Given the description of an element on the screen output the (x, y) to click on. 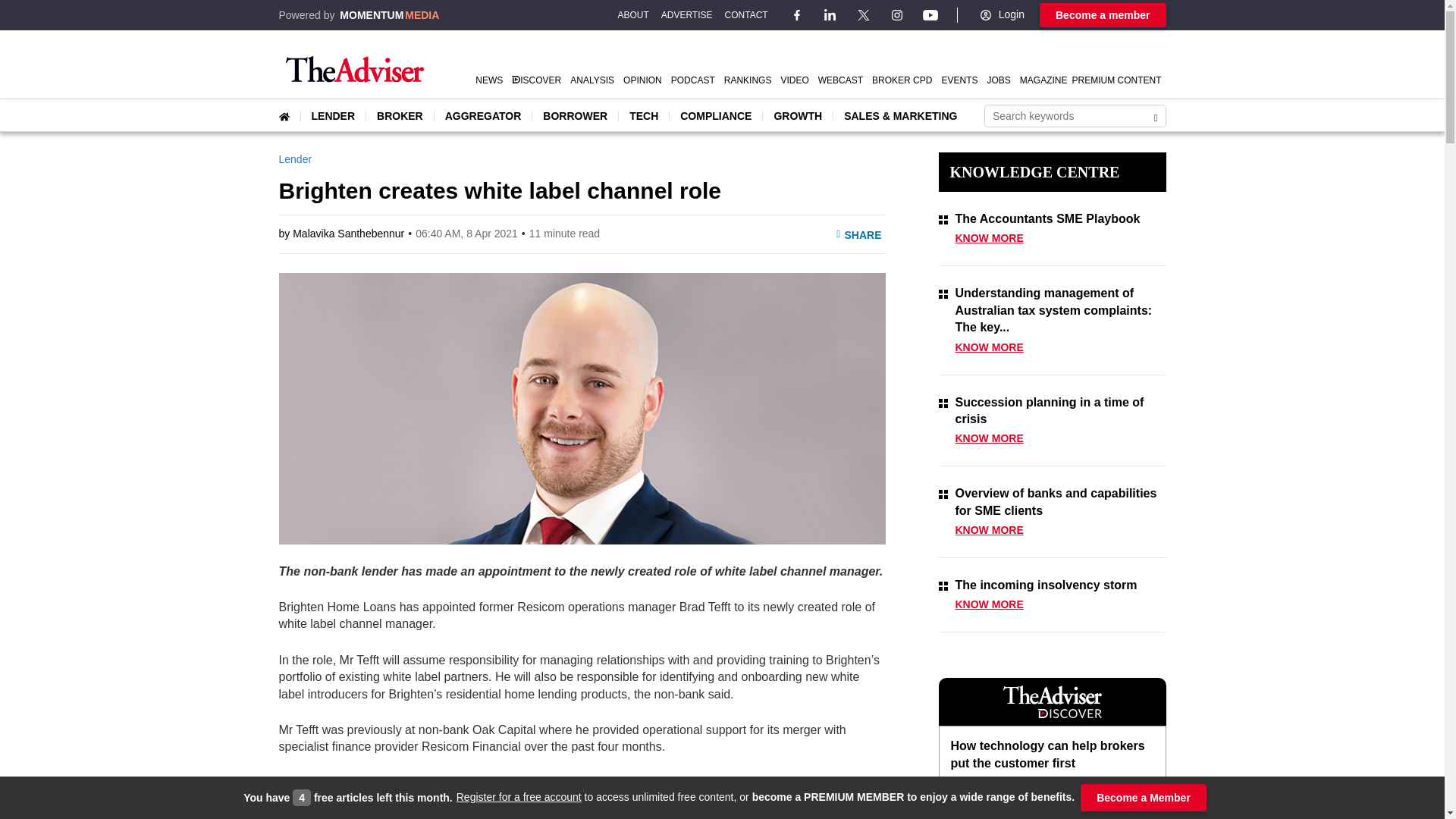
MOMENTUM MEDIA (389, 15)
Become a member (1102, 15)
Become a Member (1143, 797)
